Given the description of an element on the screen output the (x, y) to click on. 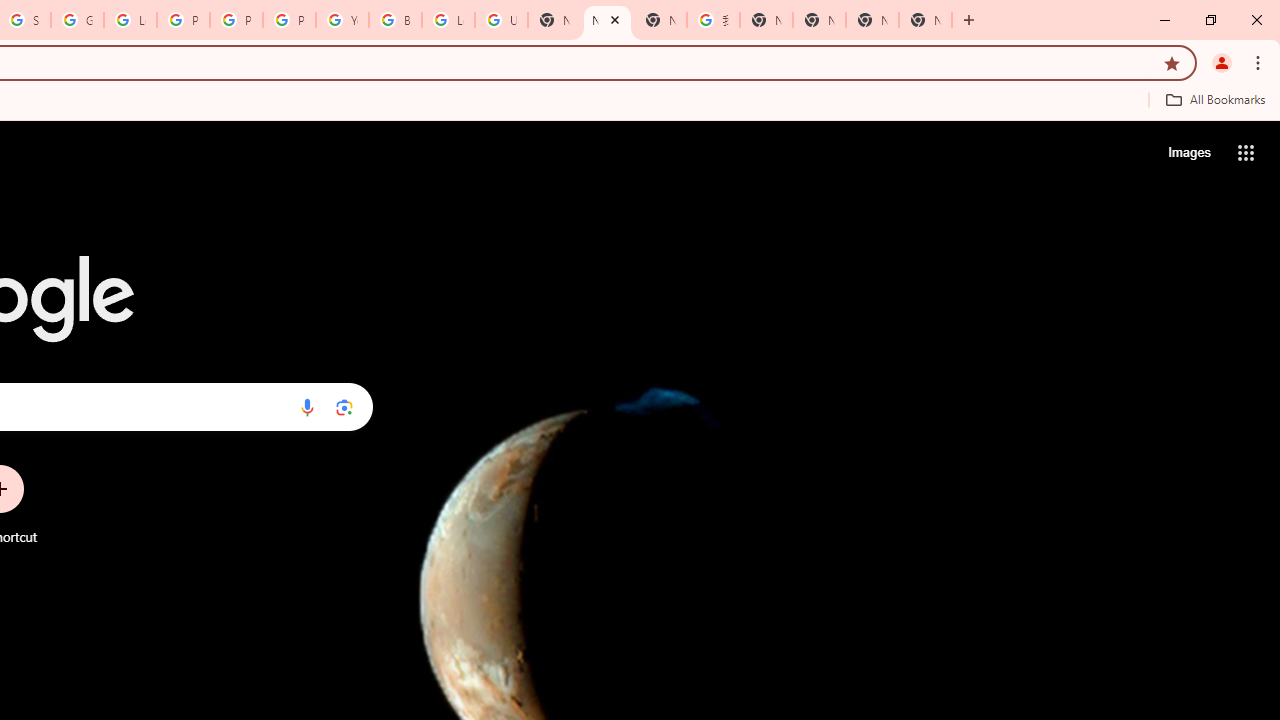
YouTube (342, 20)
